Given the description of an element on the screen output the (x, y) to click on. 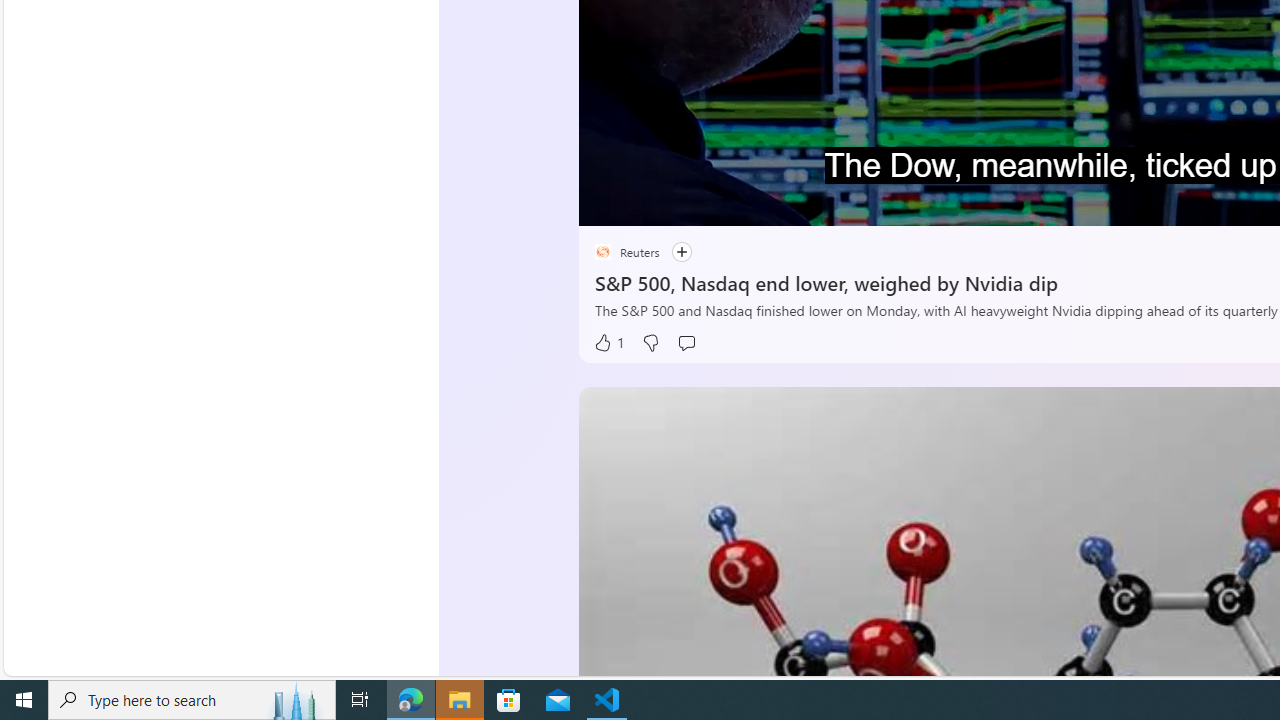
Start the conversation (686, 343)
1 Like (608, 343)
Follow (671, 251)
Dislike (650, 343)
placeholder (601, 252)
placeholder Reuters (626, 252)
Seek Back (648, 203)
Pause (607, 203)
Seek Forward (688, 203)
